Given the description of an element on the screen output the (x, y) to click on. 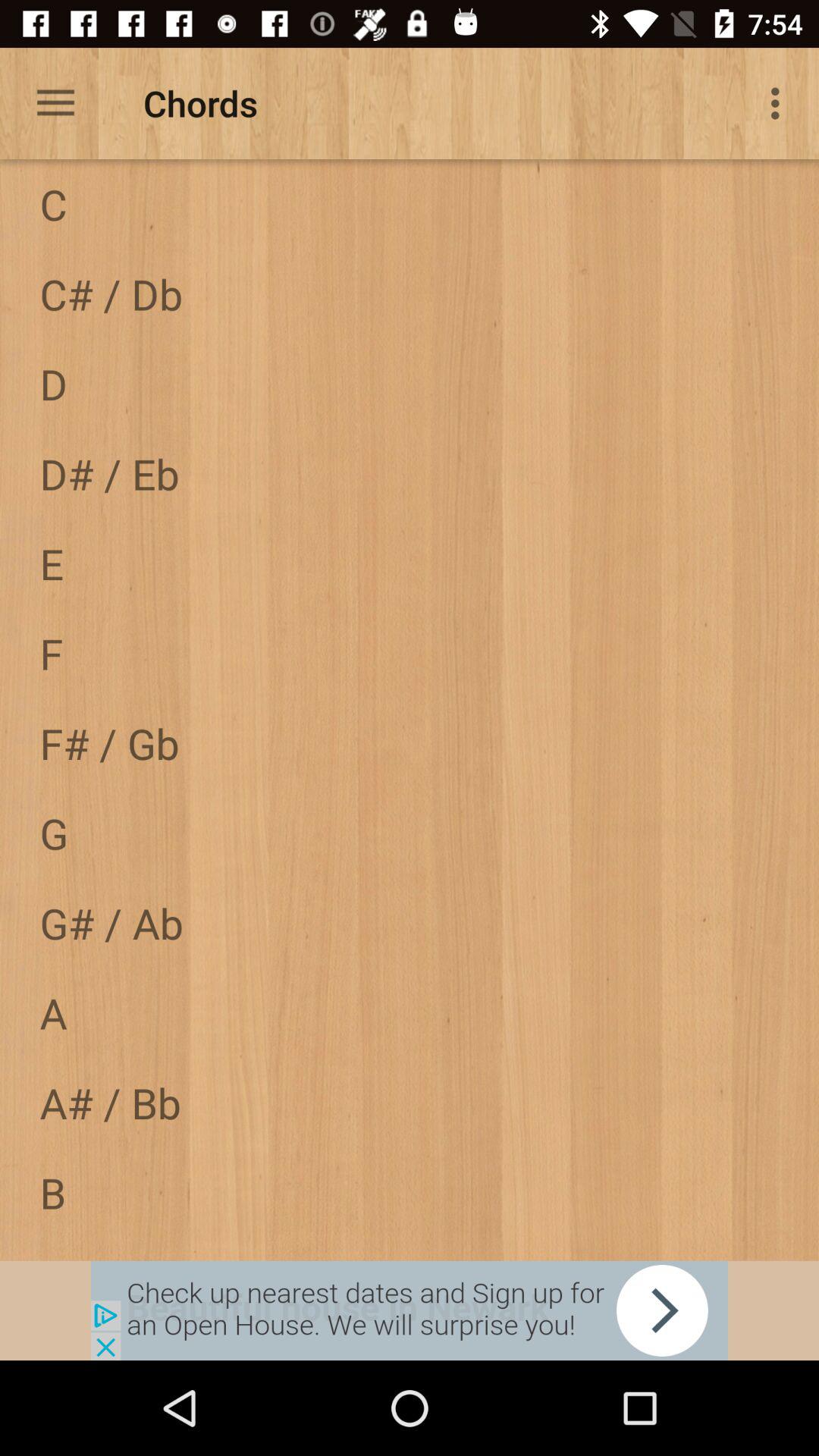
share link (409, 1310)
